Given the description of an element on the screen output the (x, y) to click on. 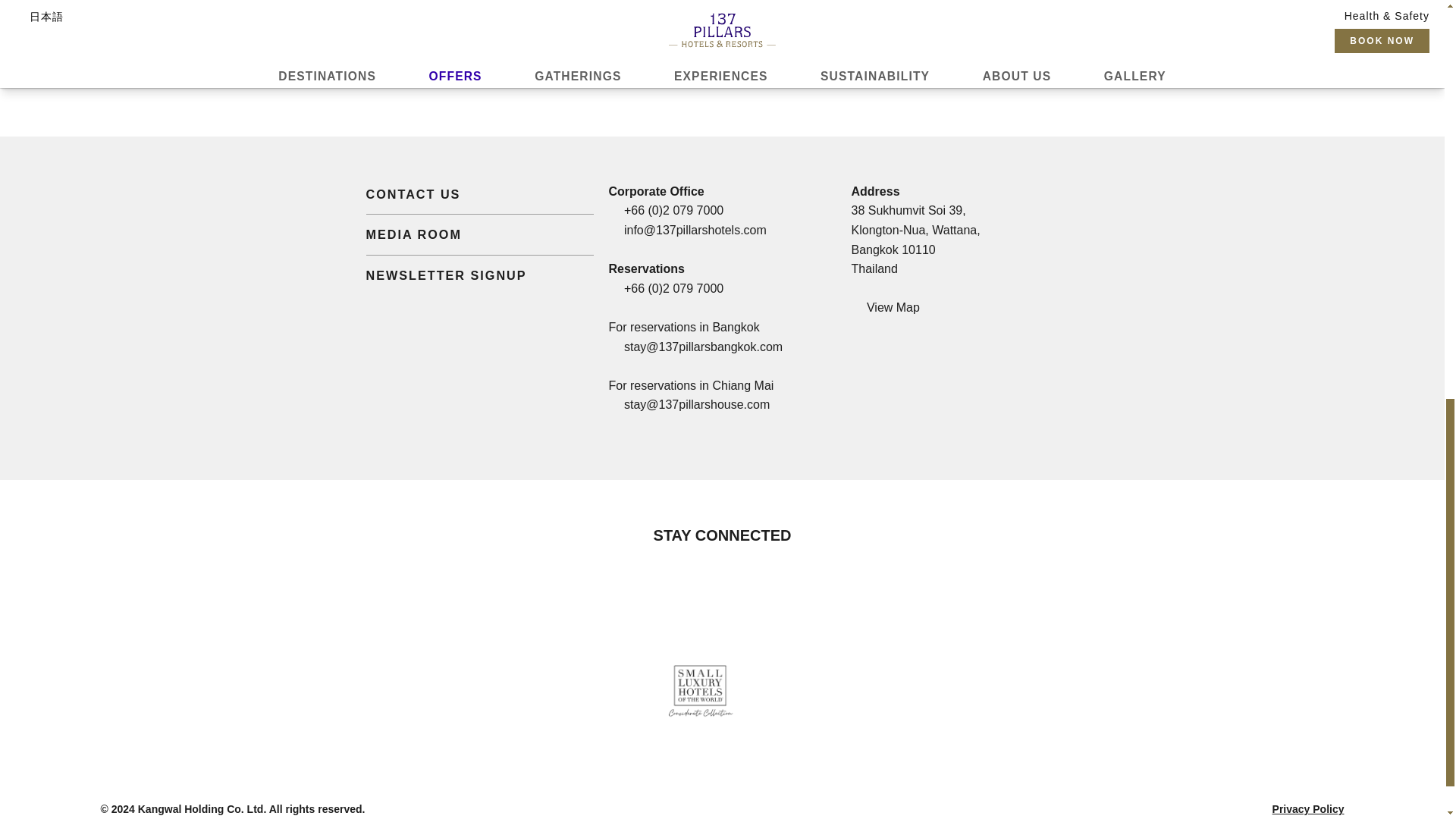
View on Google Maps (884, 307)
Email us (695, 229)
TripAdvisor Certificate of Excellence (631, 686)
Small Luxury Hotels of the World - Considerate Collection (708, 686)
Call us (673, 210)
